Given the description of an element on the screen output the (x, y) to click on. 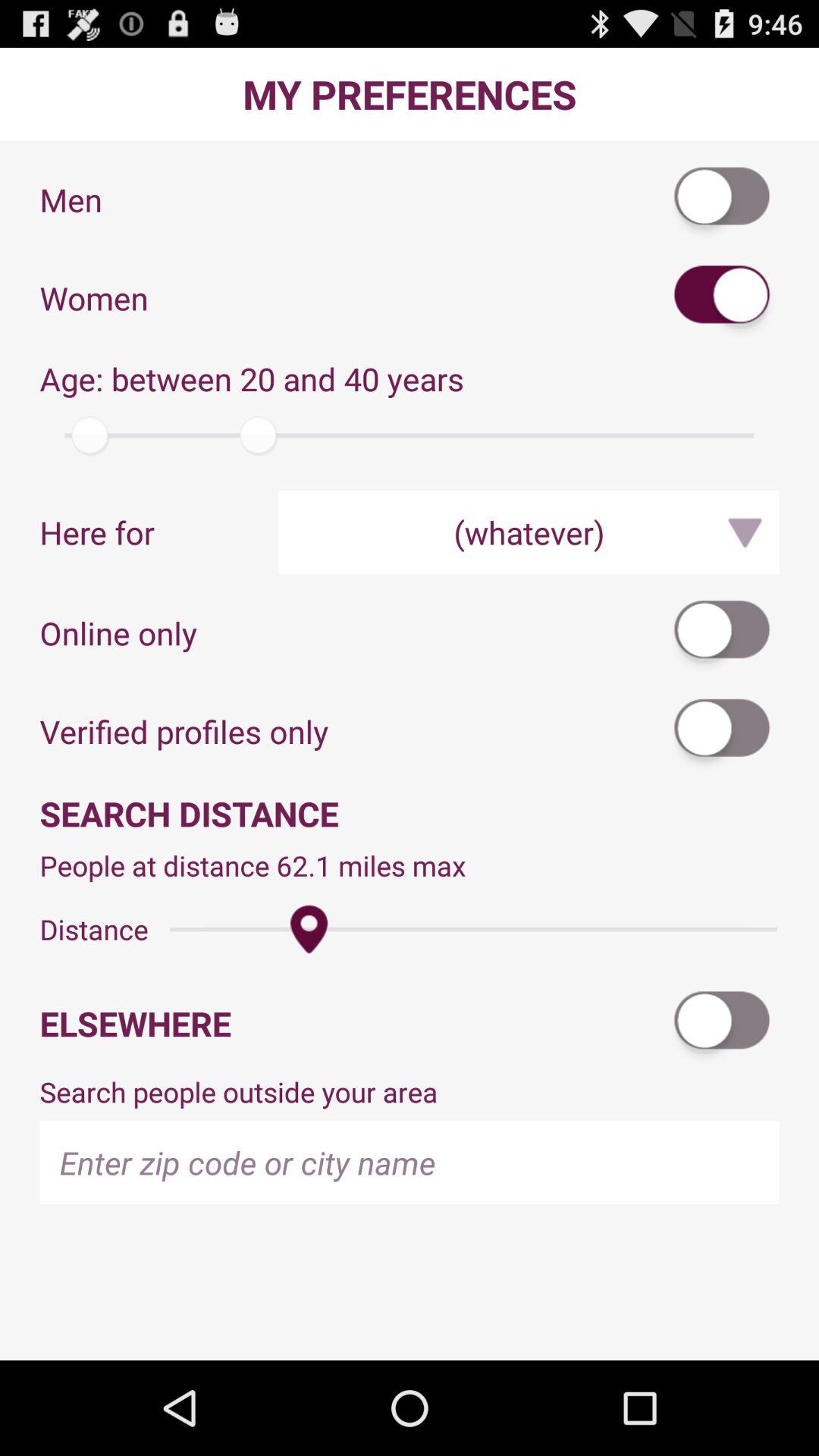
search for (722, 297)
